Given the description of an element on the screen output the (x, y) to click on. 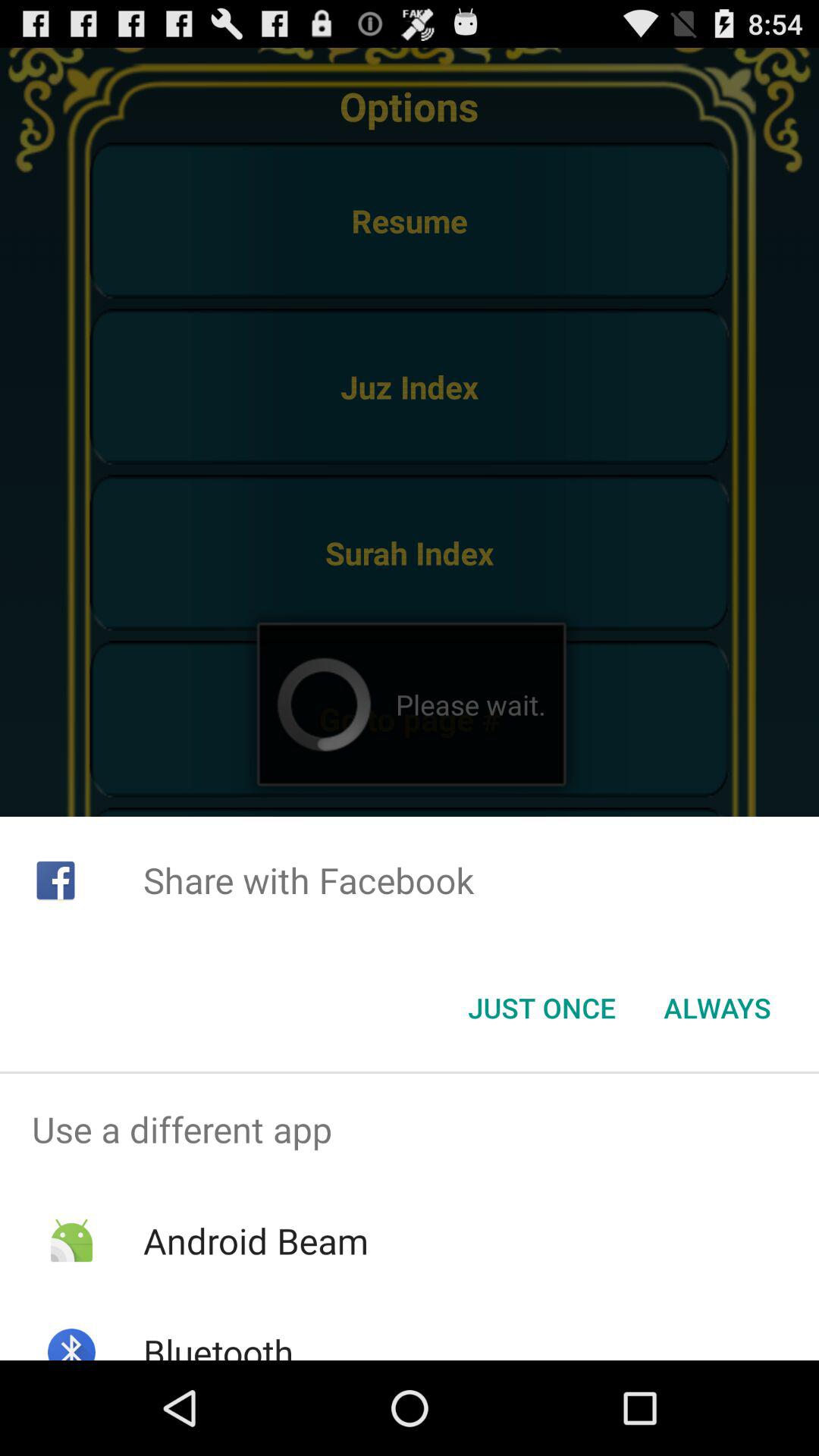
launch the use a different item (409, 1129)
